Given the description of an element on the screen output the (x, y) to click on. 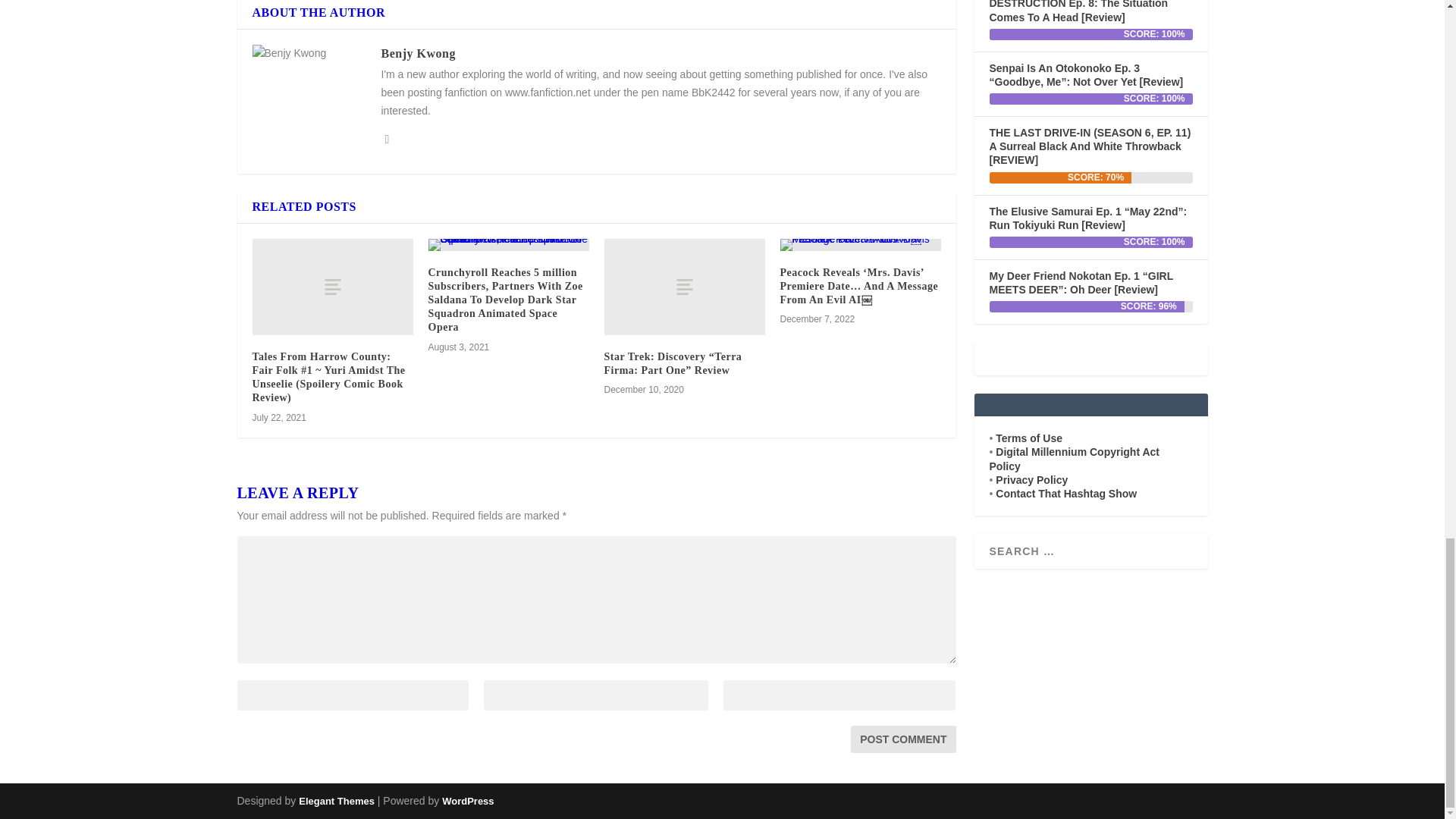
Post Comment (902, 738)
